Given the description of an element on the screen output the (x, y) to click on. 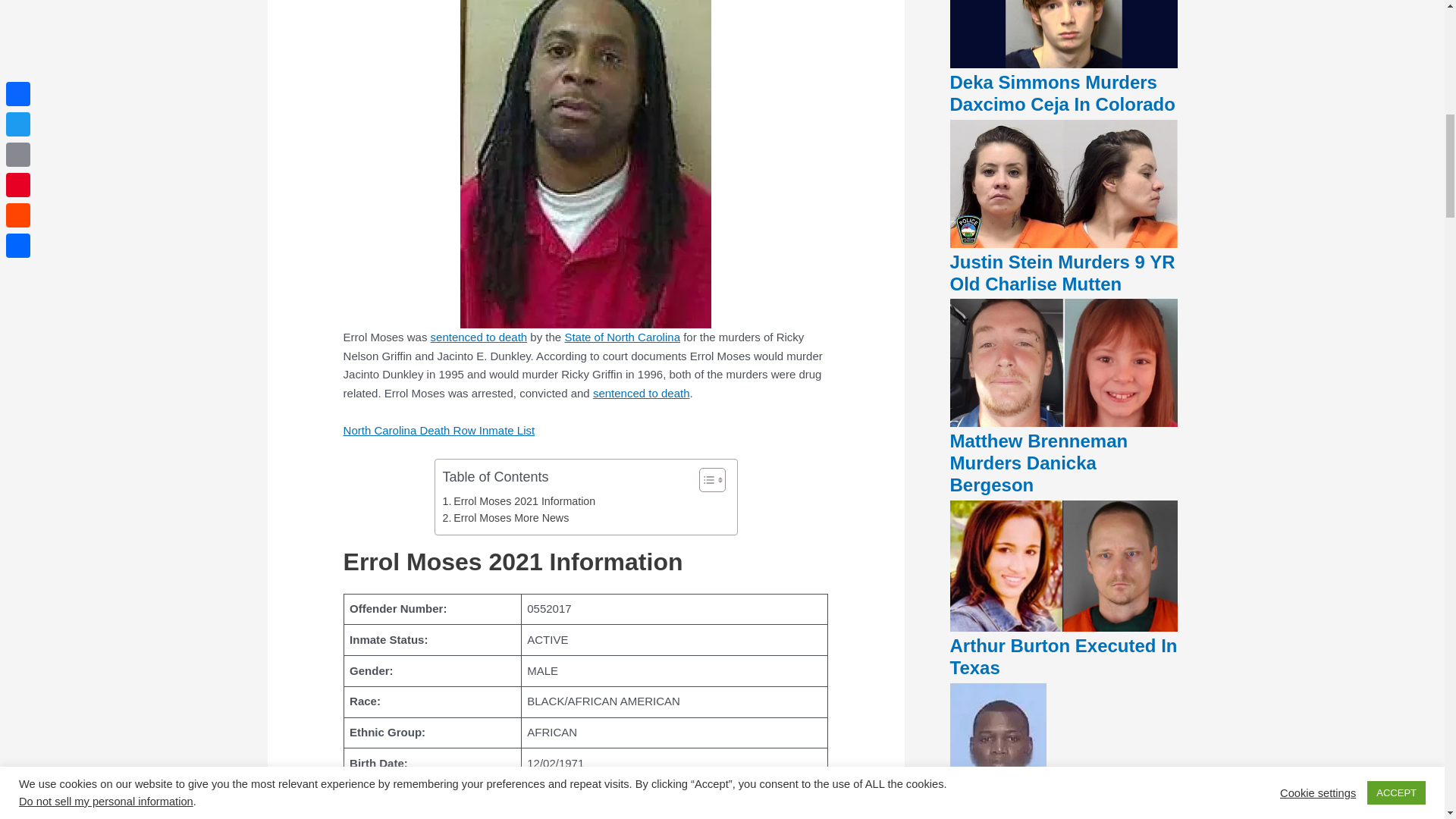
sentenced to death (641, 392)
Errol Moses More News (505, 518)
North Carolina Death Row Inmate List (439, 430)
sentenced to death (478, 336)
Errol Moses 2021 Information (518, 501)
Sentenced to death (641, 392)
North Carolina Death Row Inmate List (621, 336)
State of North Carolina (621, 336)
Sentenced to death (478, 336)
